Given the description of an element on the screen output the (x, y) to click on. 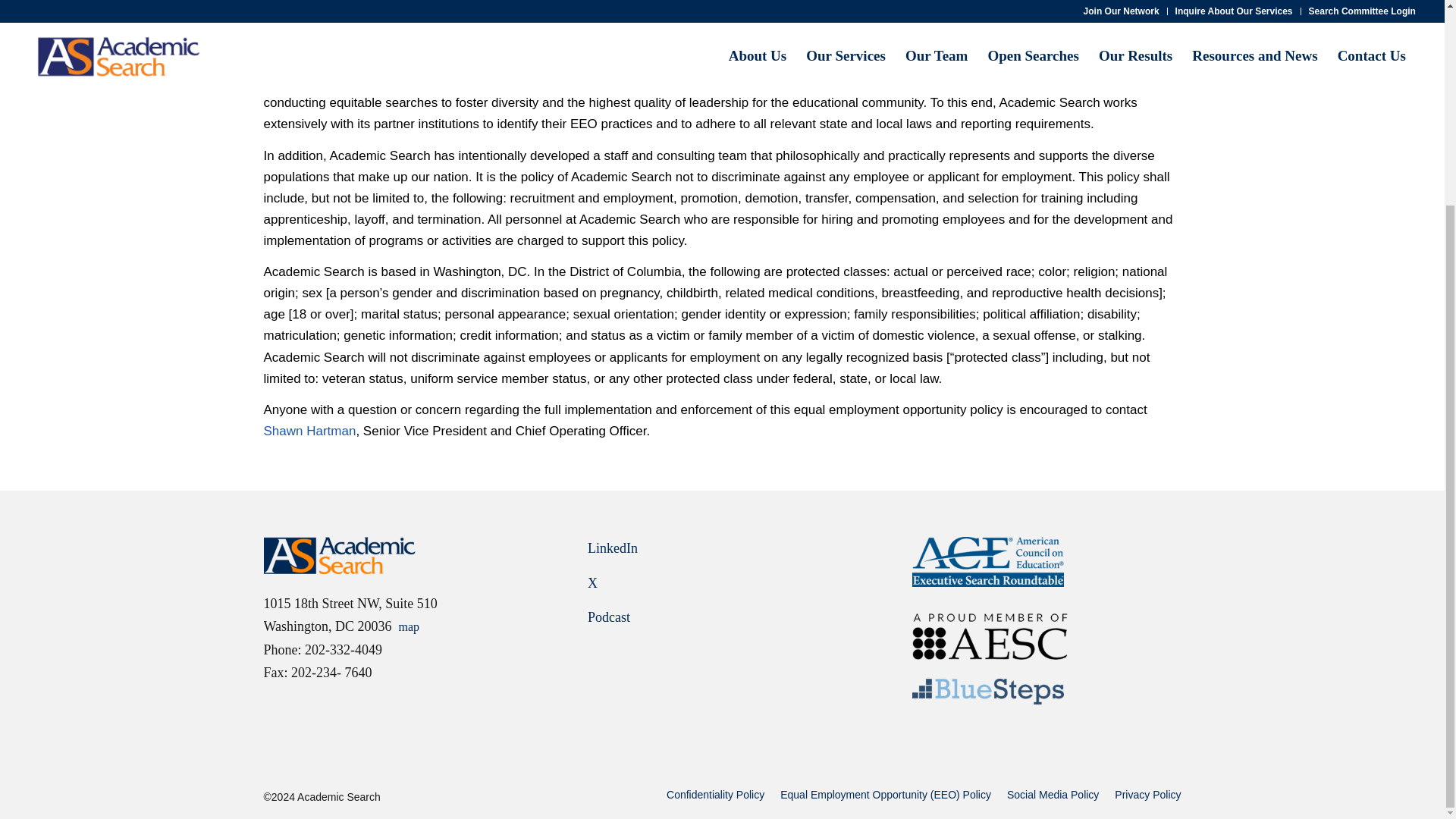
Social Media Policy (1053, 794)
Confidentiality Policy (715, 794)
LinkedIn (612, 548)
Privacy Policy (1147, 794)
map (409, 626)
Podcast (609, 616)
Shawn Hartman (309, 431)
